Given the description of an element on the screen output the (x, y) to click on. 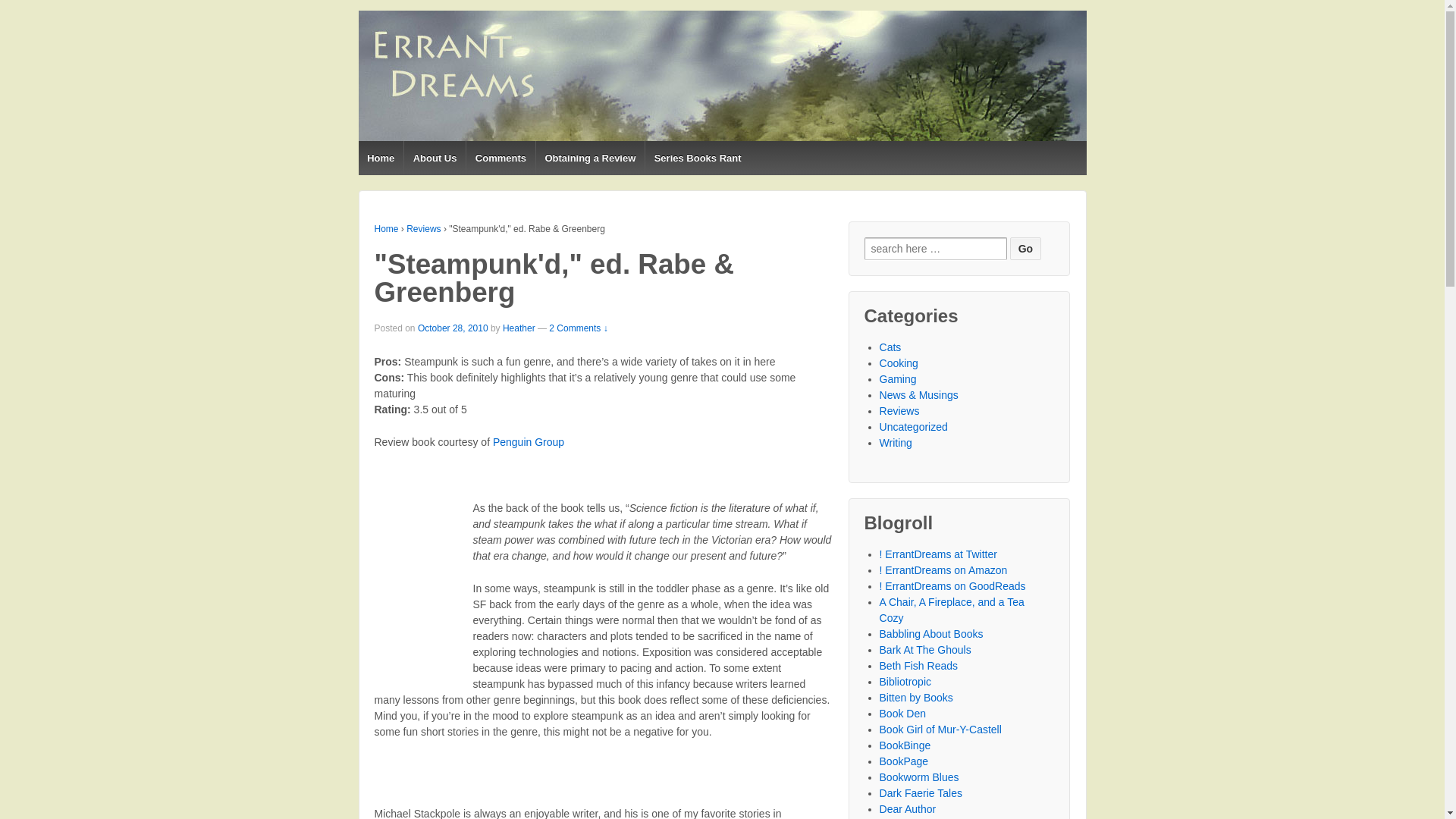
October 28, 2010 (452, 327)
Home (380, 157)
Go (1025, 248)
Horror, Fantasy, SF (902, 713)
Review excerpts on Amazon (943, 570)
Heather (518, 327)
Obtaining a Review (590, 157)
About Us (434, 157)
Speculative fiction reviews (905, 681)
Series Books Rant (697, 157)
Talking about books, TV shows, movies, libraries (952, 610)
Reviews (423, 228)
Genre book reviews (916, 697)
Comments (500, 157)
Home (386, 228)
